Given the description of an element on the screen output the (x, y) to click on. 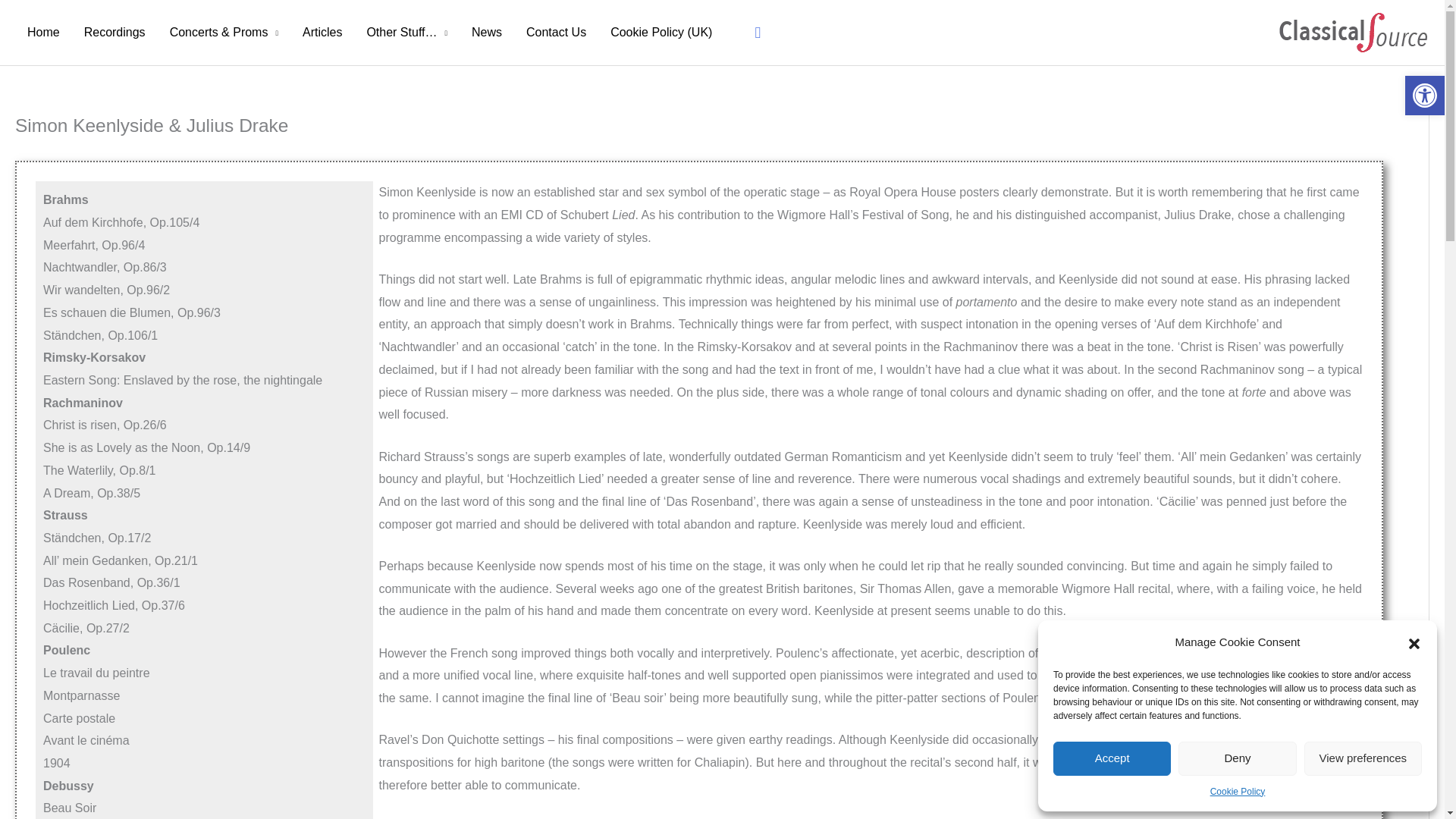
News (486, 32)
Cookie Policy (1237, 791)
Deny (1236, 758)
Home (42, 32)
Articles (321, 32)
Accept (1111, 758)
View preferences (1363, 758)
Accessibility Tools (1424, 95)
Recordings (114, 32)
